Given the description of an element on the screen output the (x, y) to click on. 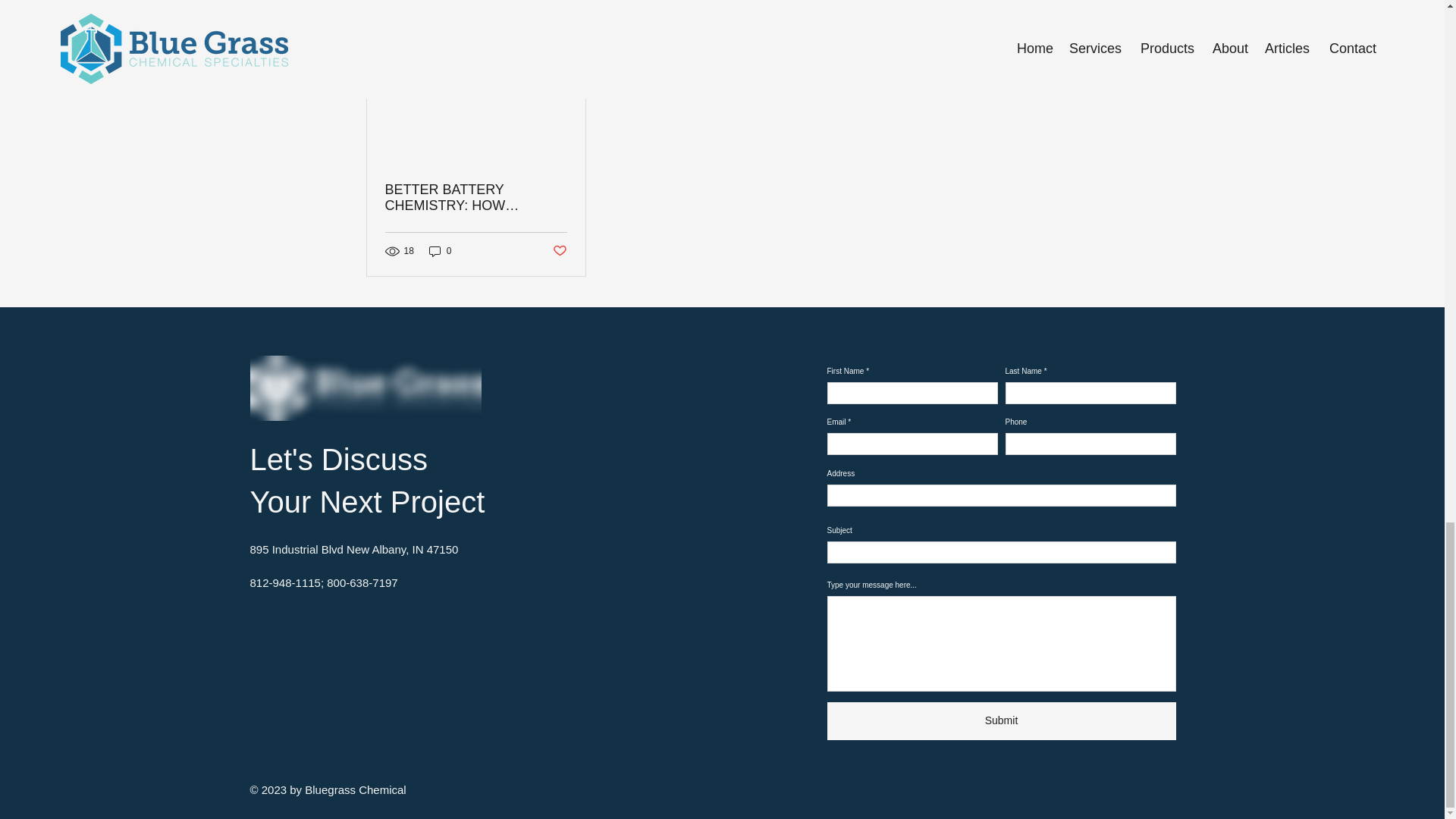
0 (440, 250)
Post not marked as liked (558, 251)
See All (1061, 14)
Submit (1000, 720)
